Given the description of an element on the screen output the (x, y) to click on. 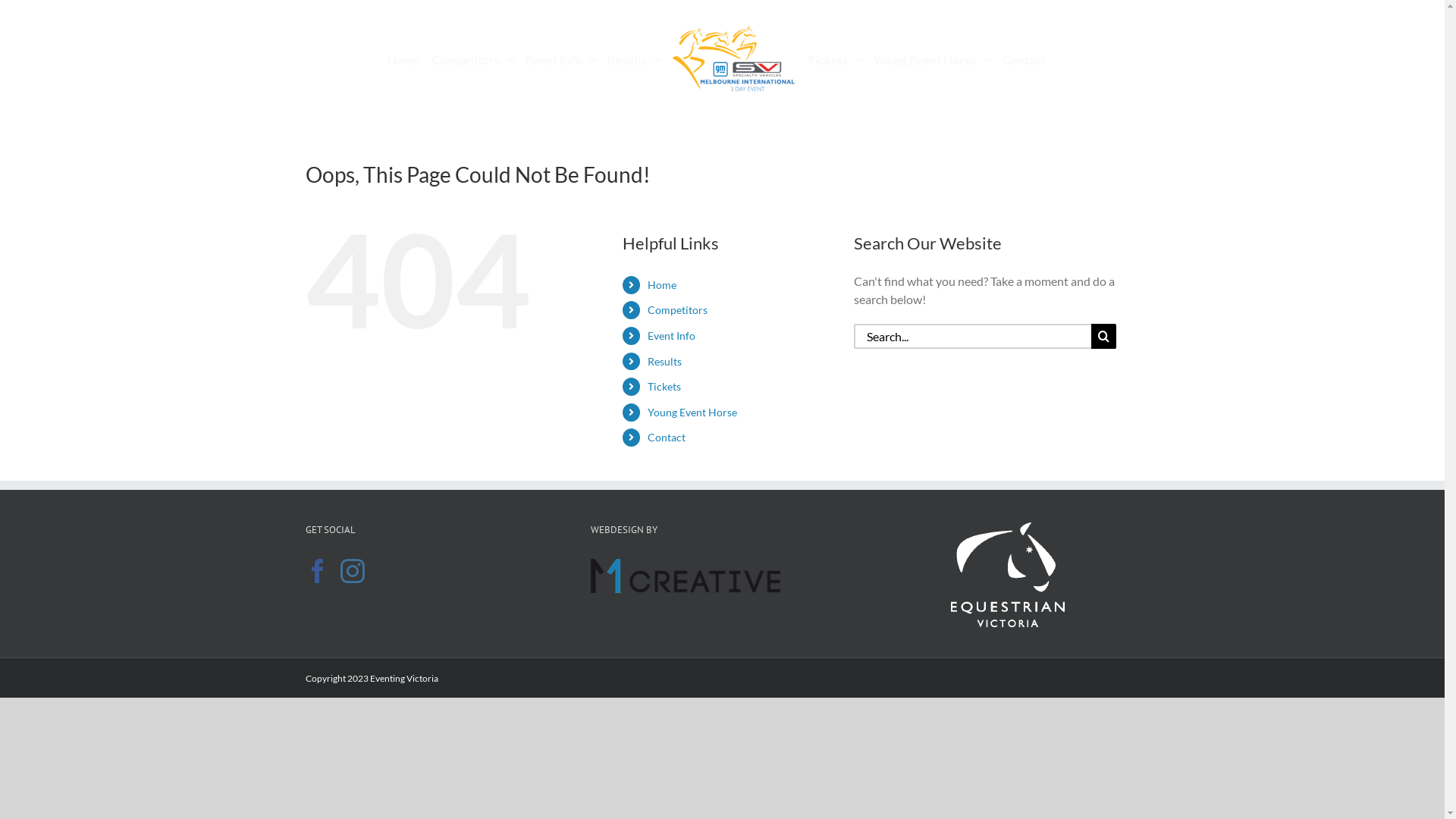
Young Event Horse Element type: text (932, 58)
Home Element type: text (403, 58)
Competitors Element type: text (677, 309)
Event Info Element type: text (560, 58)
Event Info Element type: text (671, 335)
Results Element type: text (634, 58)
Competitors Element type: text (472, 58)
Contact Element type: text (1023, 58)
Home Element type: text (661, 284)
Tickets Element type: text (834, 58)
Young Event Horse Element type: text (692, 411)
Contact Element type: text (666, 436)
Results Element type: text (664, 360)
Tickets Element type: text (663, 385)
